Given the description of an element on the screen output the (x, y) to click on. 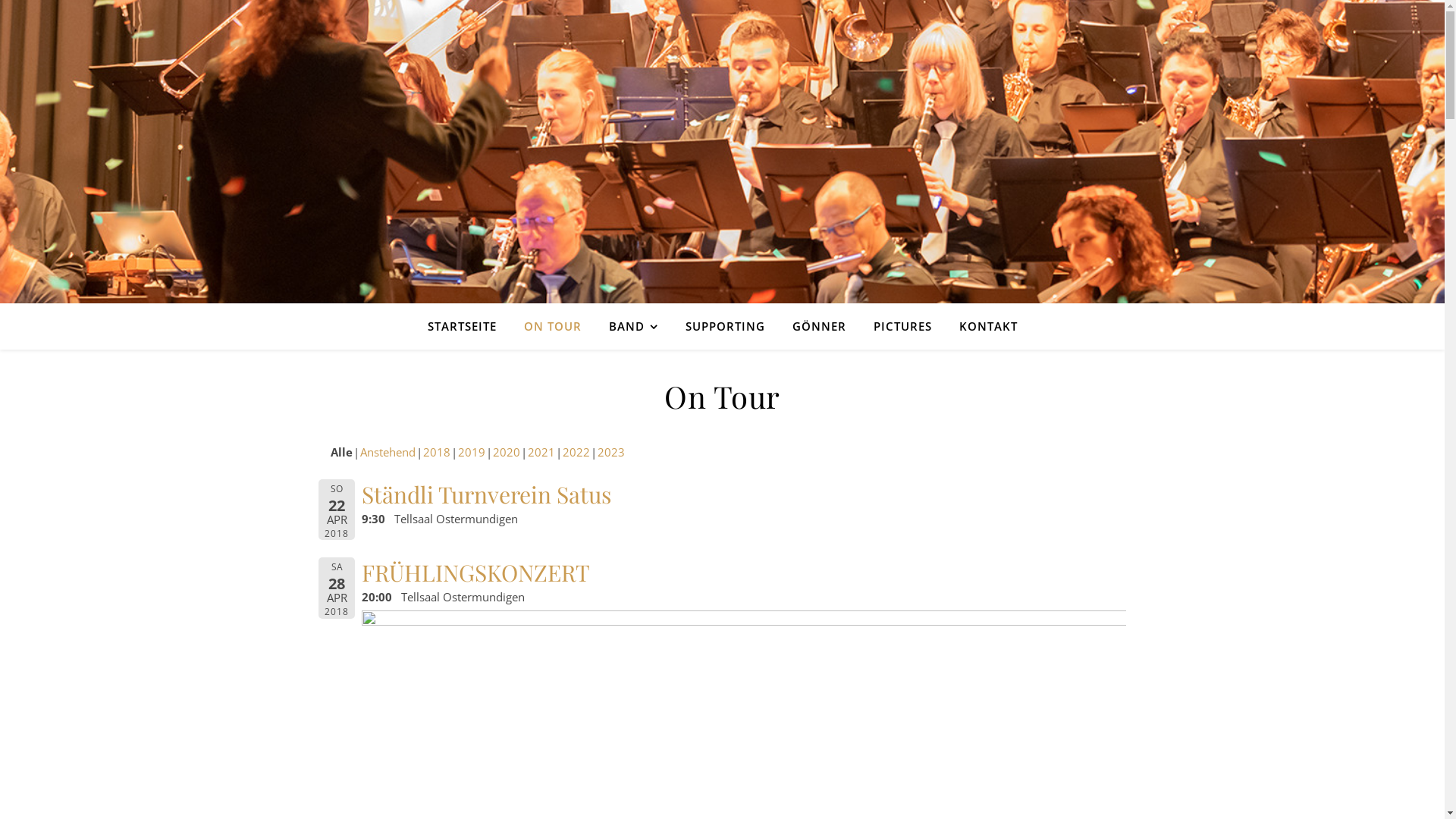
ON TOUR Element type: text (552, 325)
2021 Element type: text (541, 451)
KONTAKT Element type: text (981, 325)
BAND Element type: text (632, 326)
2023 Element type: text (610, 451)
Anstehend Element type: text (386, 451)
STARTSEITE Element type: text (467, 325)
SUPPORTING Element type: text (725, 325)
2018 Element type: text (436, 451)
2019 Element type: text (471, 451)
2022 Element type: text (575, 451)
2020 Element type: text (506, 451)
PICTURES Element type: text (902, 325)
